Given the description of an element on the screen output the (x, y) to click on. 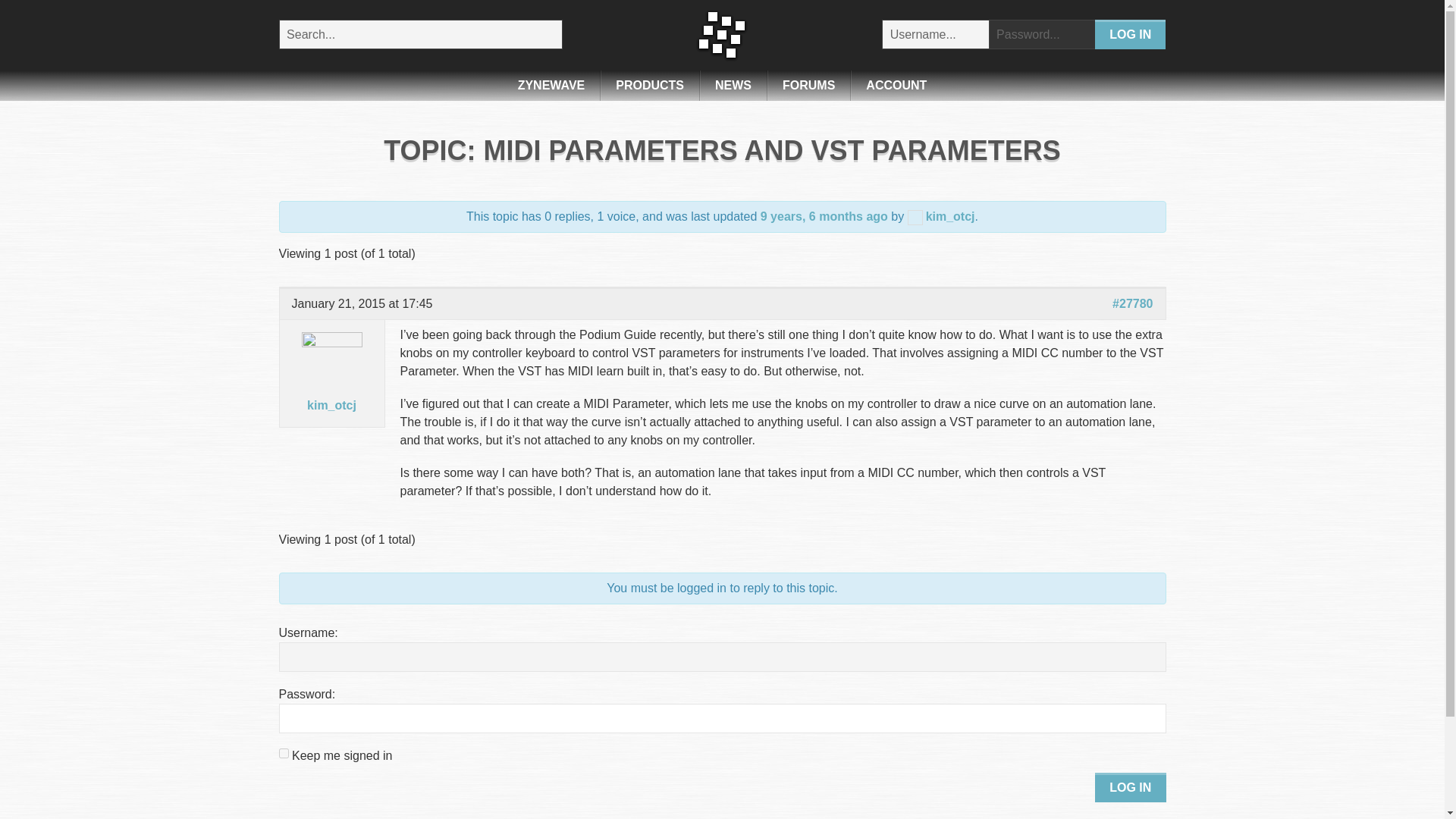
ZYNEWAVE (550, 85)
LOG IN (1130, 787)
PRODUCTS (648, 85)
MIDI Parameters and VST Parameters (824, 215)
ACCOUNT (896, 85)
FORUMS (808, 85)
9 years, 6 months ago (824, 215)
Log In (1130, 34)
NEWS (733, 85)
Log In (1130, 34)
forever (283, 753)
